Given the description of an element on the screen output the (x, y) to click on. 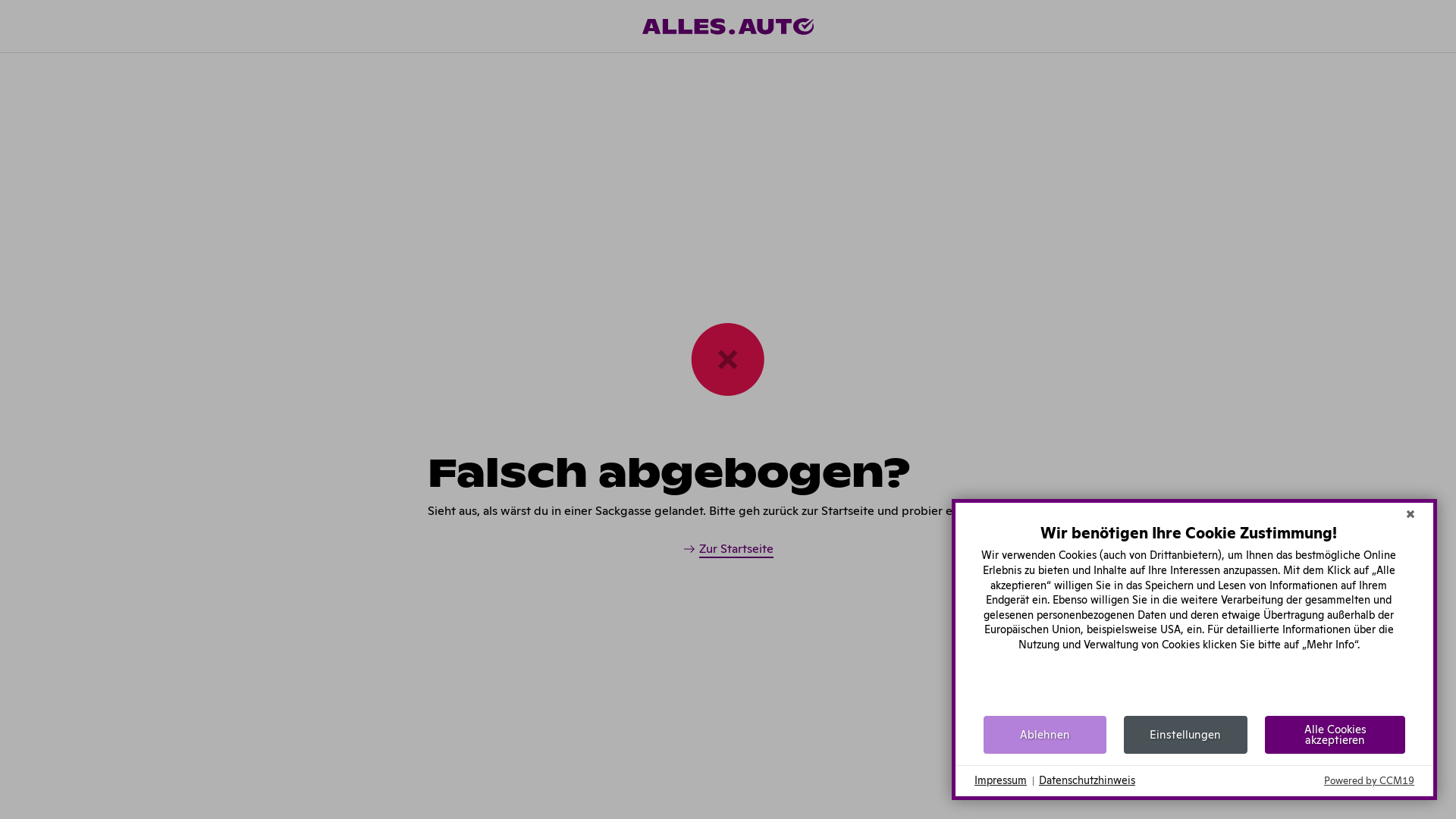
Close Element type: hover (1410, 513)
Alle Cookies akzeptieren Element type: text (1334, 734)
Ablehnen Element type: text (1044, 734)
Zur Startseite Element type: text (727, 549)
Impressum Element type: text (1000, 780)
Datenschutzhinweis Element type: text (1086, 780)
Powered by CCM19 Element type: text (1369, 780)
Einstellungen Element type: text (1184, 734)
